Given the description of an element on the screen output the (x, y) to click on. 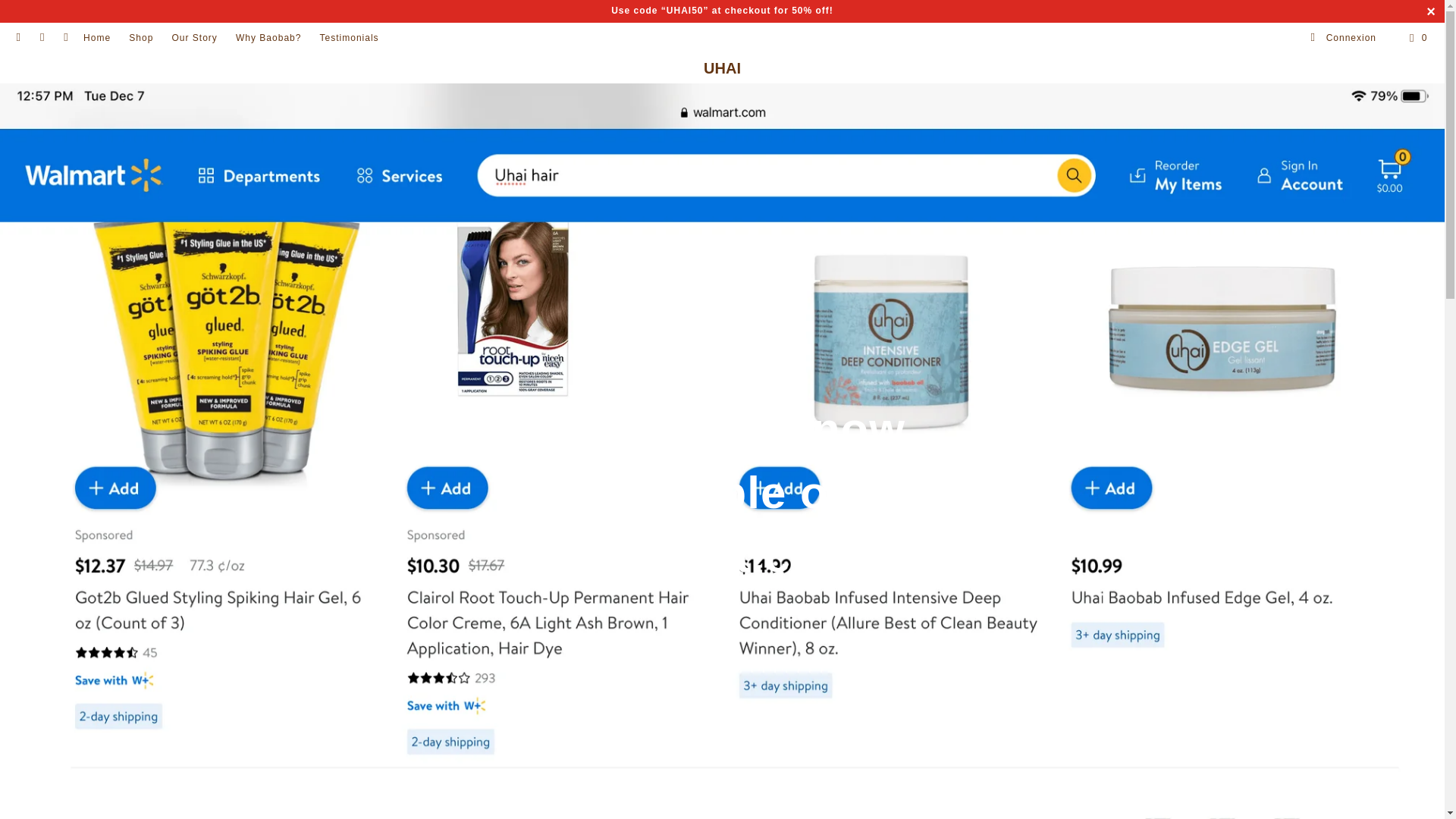
Uhai on Facebook (41, 37)
UHAI (722, 68)
Uhai on Twitter (17, 37)
Home (96, 37)
Uhai (722, 68)
Connexion (1343, 37)
Testimonials (349, 37)
Our Story (193, 37)
Why Baobab? (268, 37)
Uhai on Instagram (65, 37)
Mon compte  (1343, 37)
